Given the description of an element on the screen output the (x, y) to click on. 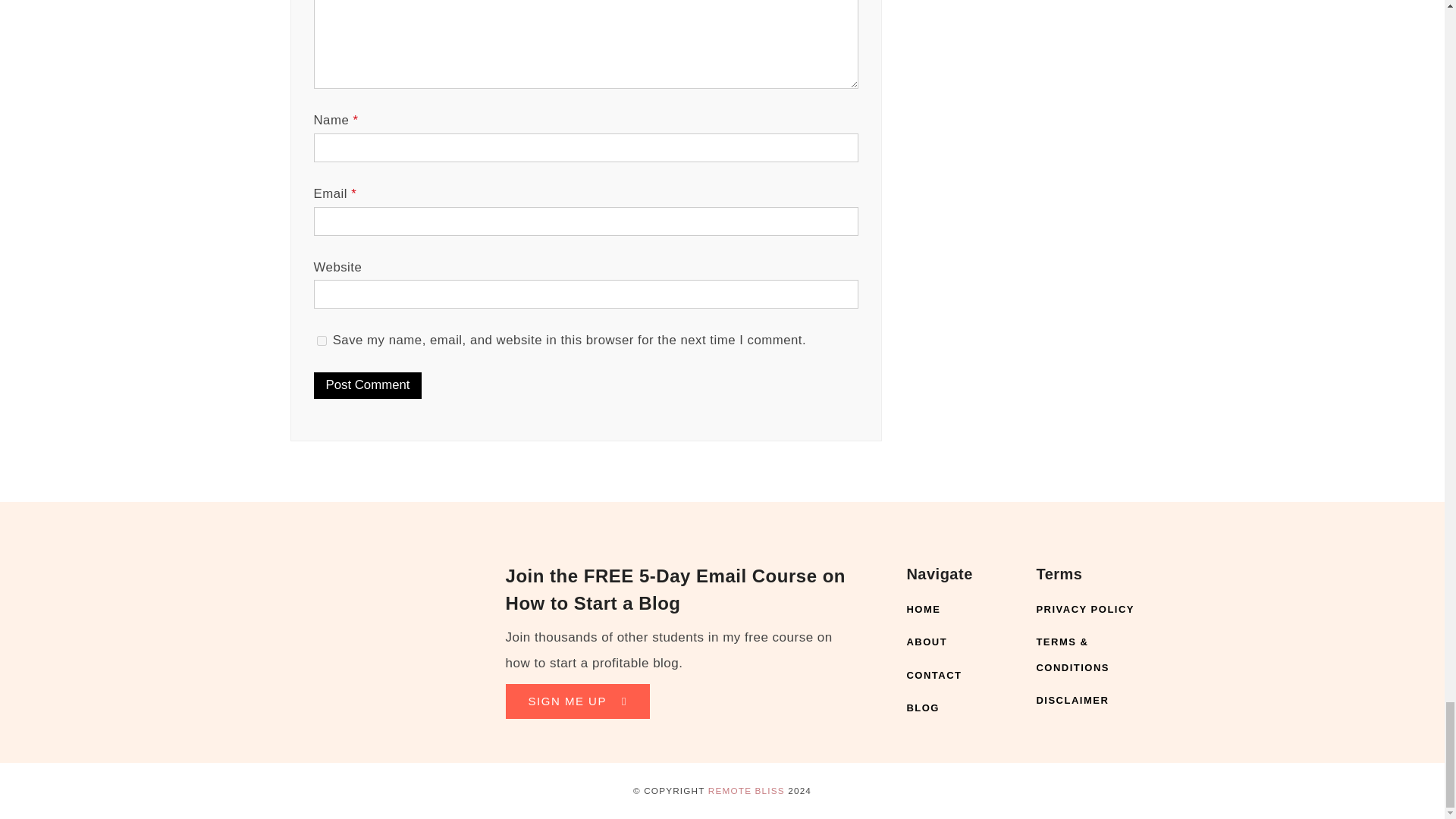
yes (321, 340)
Post Comment (368, 385)
